Given the description of an element on the screen output the (x, y) to click on. 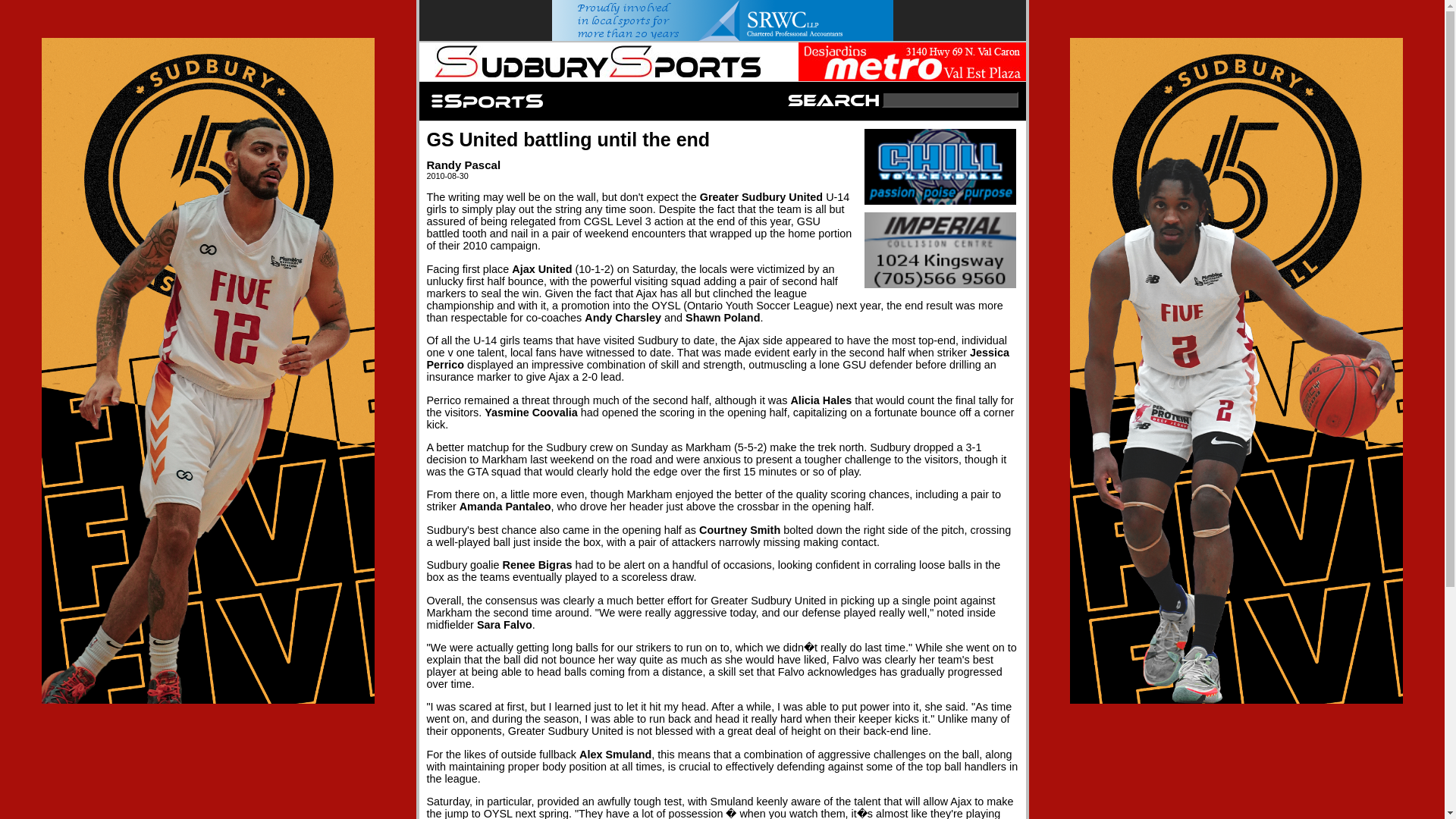
Northern Chill Volleyball Club (940, 166)
Imperial Collision Centre (940, 250)
SRWC - Chartered Professional Accountants (722, 20)
Desjardins Metro - Val Est Mall (911, 61)
